Given the description of an element on the screen output the (x, y) to click on. 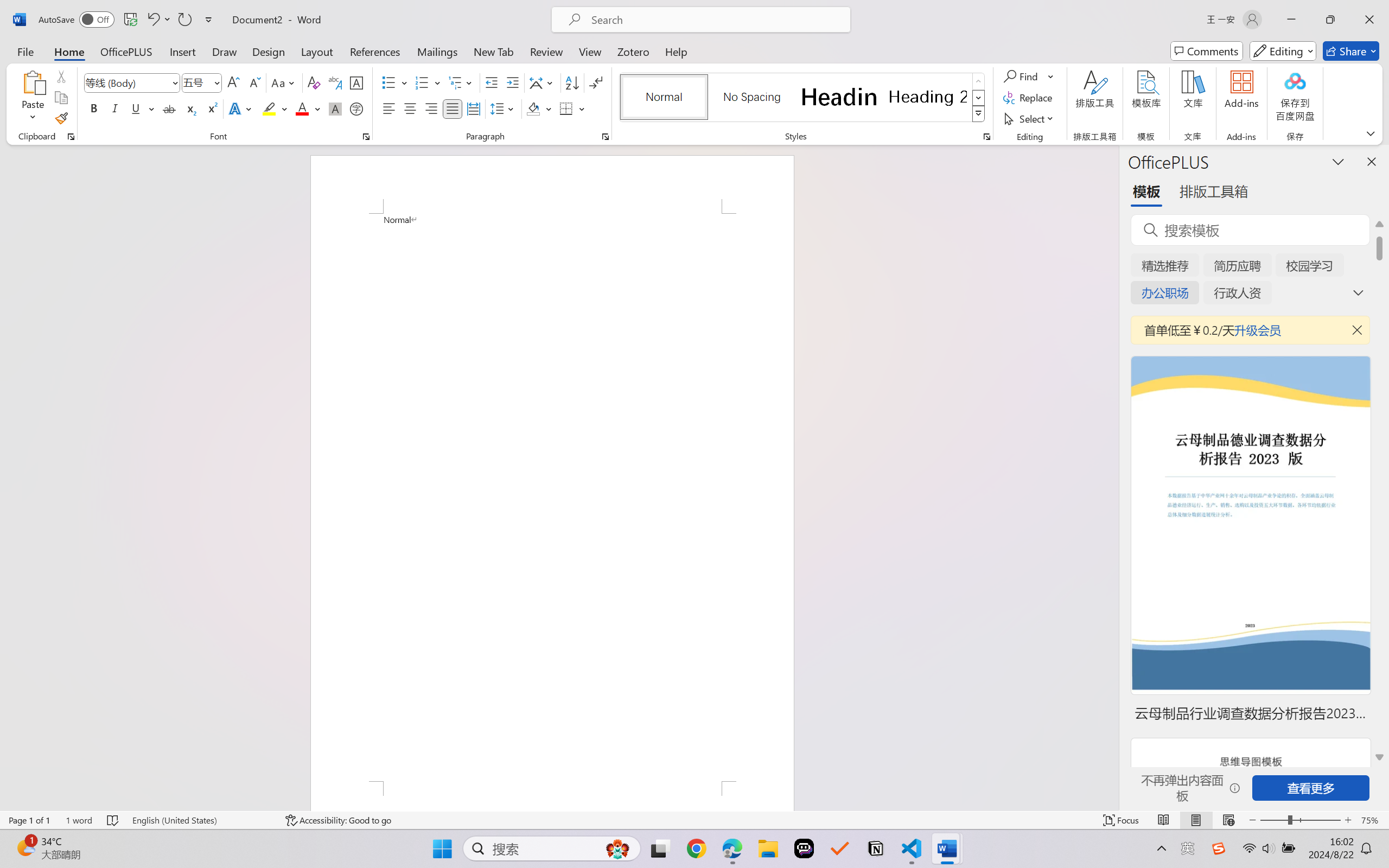
Mode (1283, 50)
Borders (566, 108)
Multilevel List (461, 82)
Shrink Font (253, 82)
Comments (1206, 50)
AutomationID: DynamicSearchBoxGleamImage (617, 848)
Character Border (356, 82)
Sort... (571, 82)
Heading 2 (927, 96)
Close (1369, 19)
Undo Apply Quick Style (158, 19)
Save (130, 19)
Text Highlight Color Yellow (269, 108)
Home (69, 51)
